Given the description of an element on the screen output the (x, y) to click on. 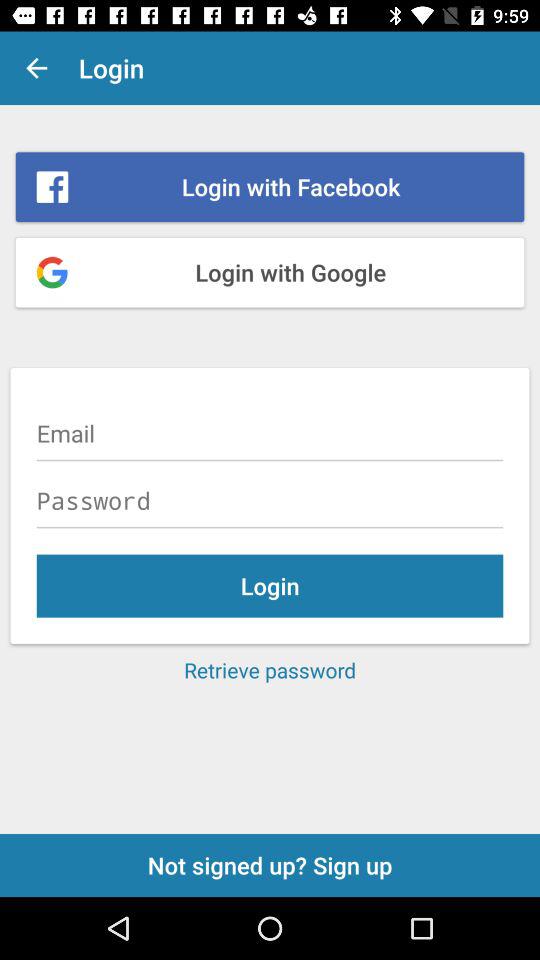
turn on the not signed up item (270, 864)
